Given the description of an element on the screen output the (x, y) to click on. 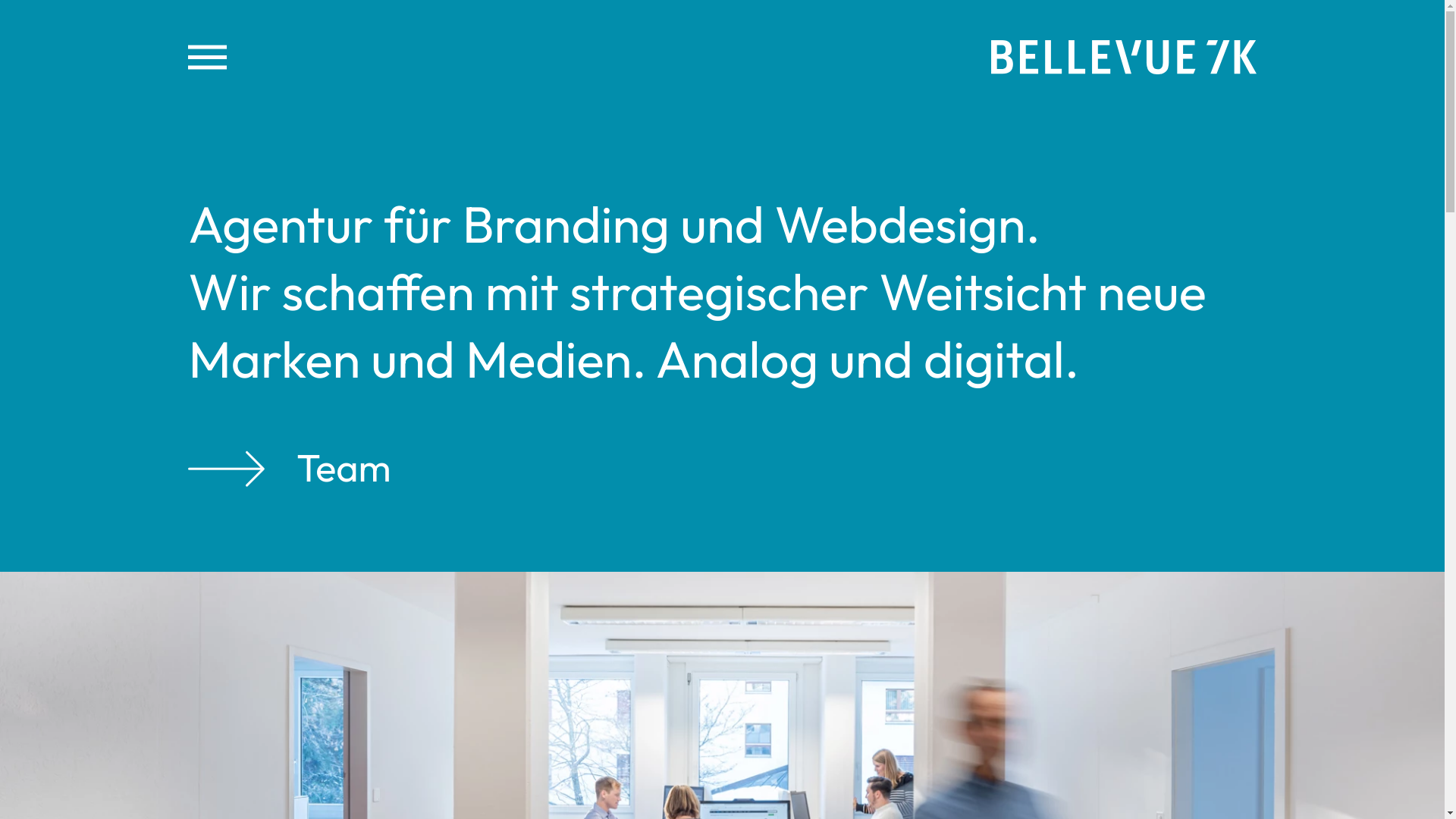
Team Element type: text (289, 468)
